Given the description of an element on the screen output the (x, y) to click on. 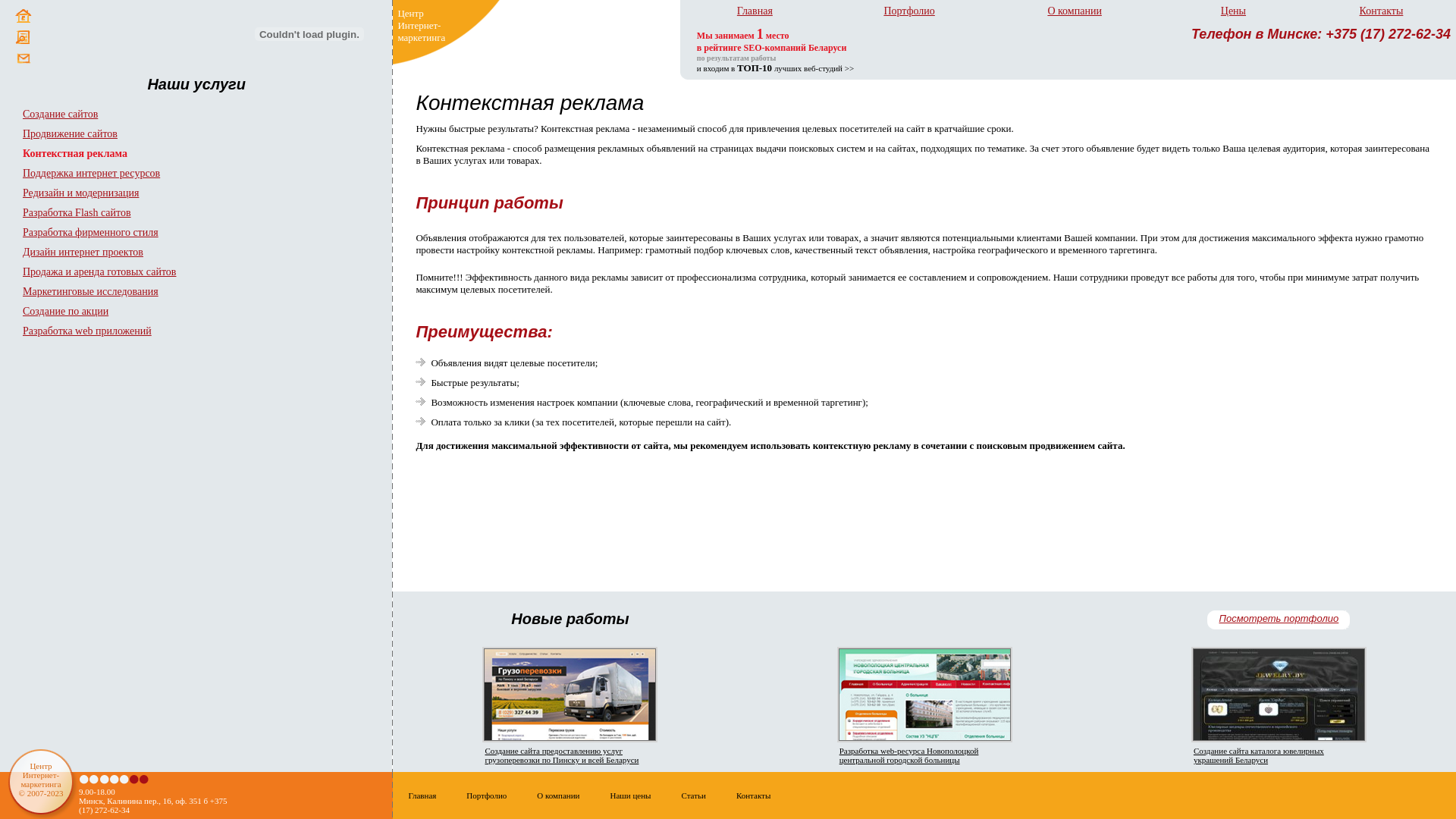
LiveInternet Element type: hover (1407, 795)
